Given the description of an element on the screen output the (x, y) to click on. 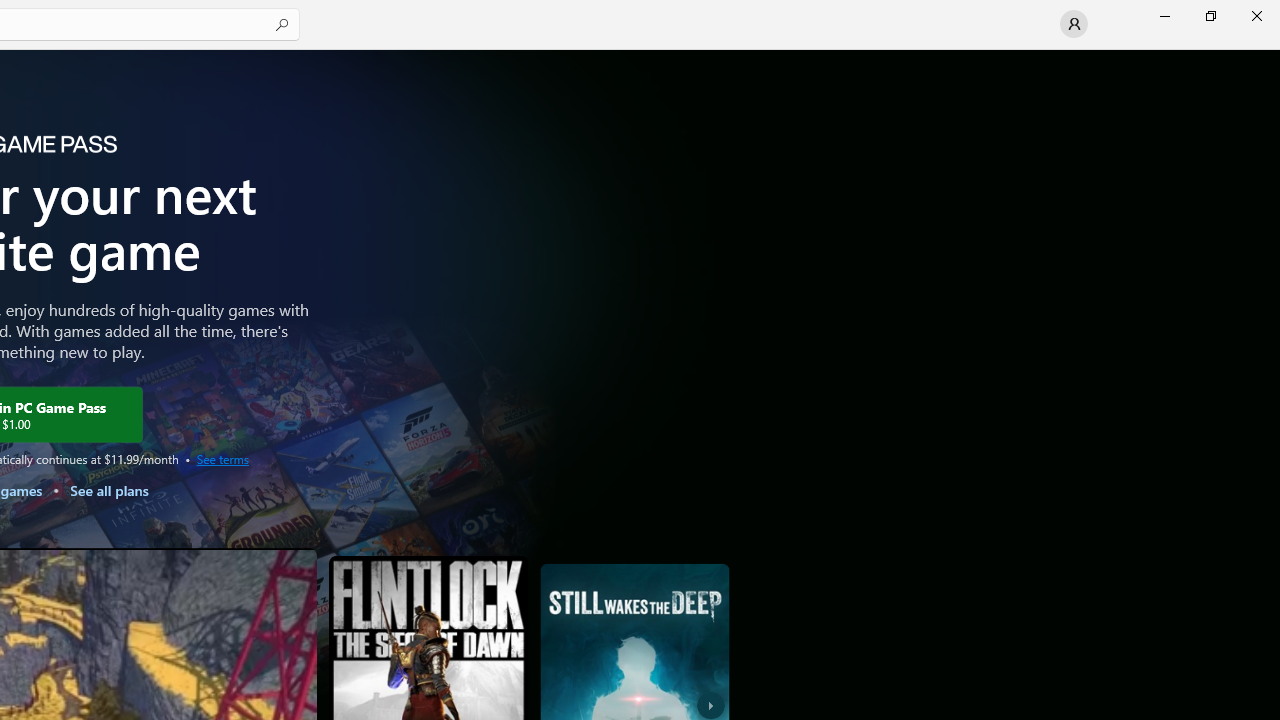
See all plans (108, 490)
See terms (221, 457)
